Given the description of an element on the screen output the (x, y) to click on. 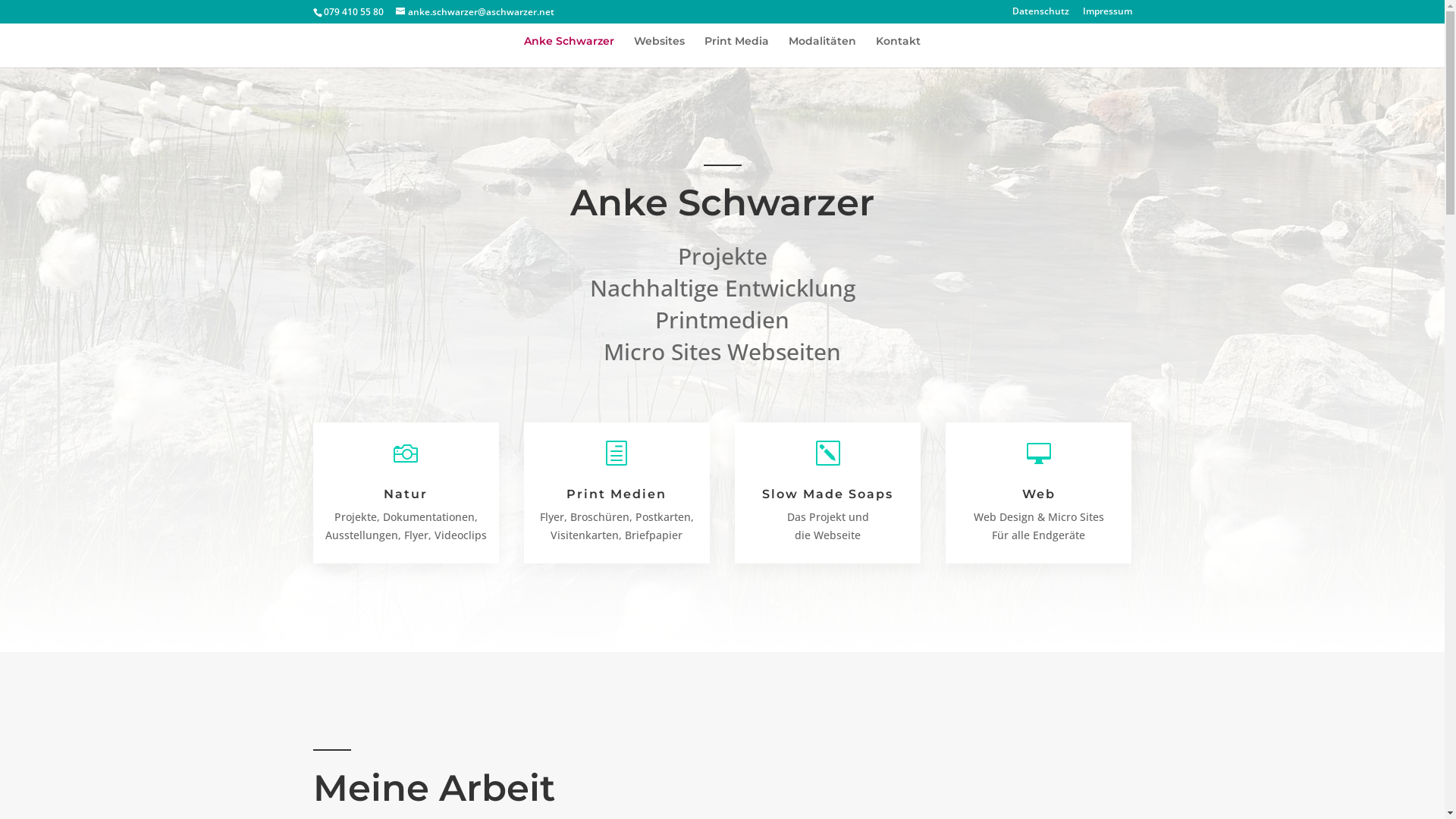
Slow Made Soaps Element type: text (827, 493)
Kontakt Element type: text (897, 51)
Datenschutz Element type: text (1039, 14)
Print Media Element type: text (736, 51)
Websites Element type: text (658, 51)
h Element type: text (616, 453)
Anke Schwarzer Element type: text (569, 51)
Print Medien Element type: text (616, 493)
Web Element type: text (1038, 493)
Impressum Element type: text (1107, 14)
Natur Element type: text (405, 493)
anke.schwarzer@aschwarzer.net Element type: text (474, 11)
k Element type: text (827, 453)
